Given the description of an element on the screen output the (x, y) to click on. 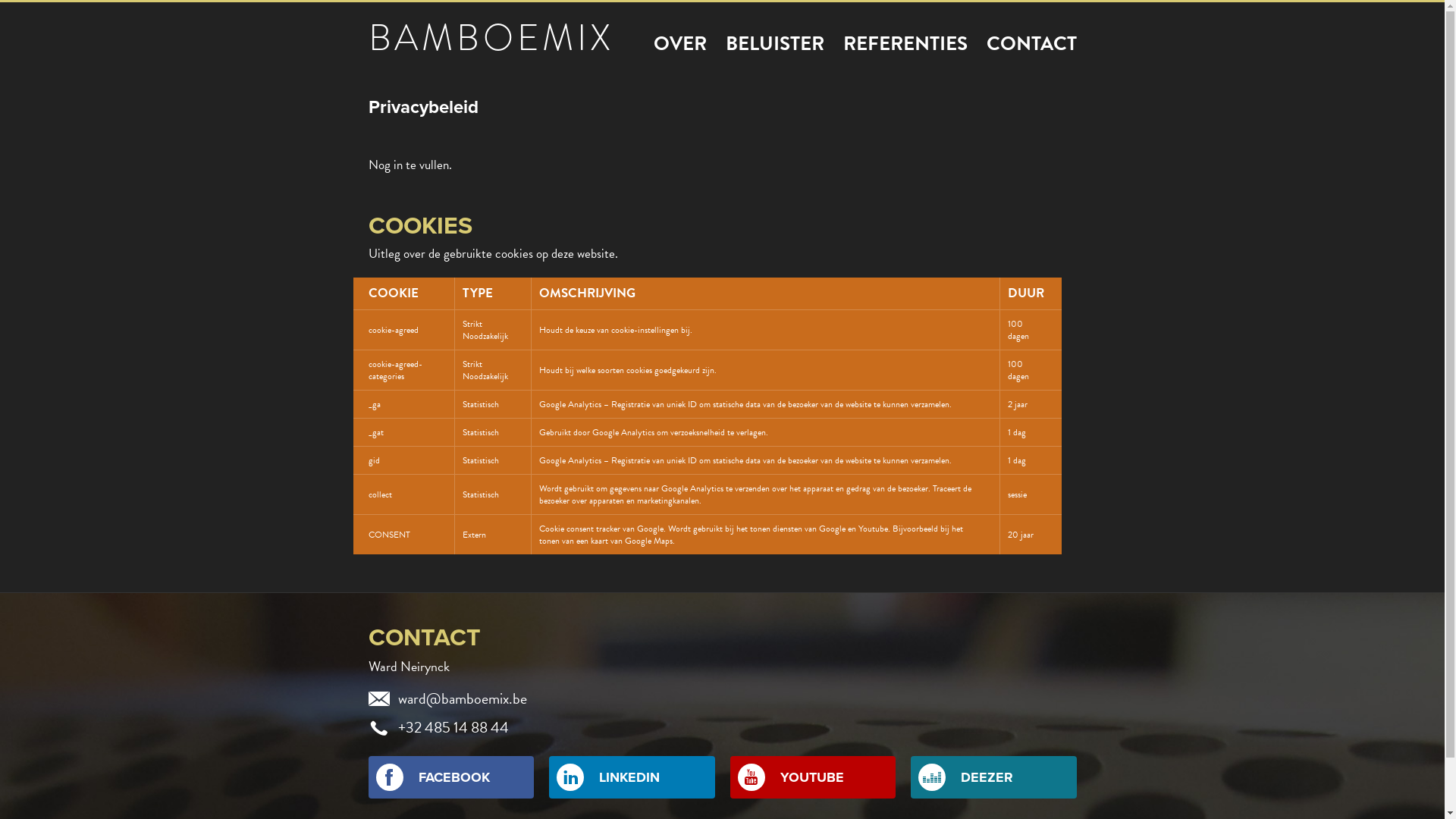
CONTACT Element type: text (1030, 43)
F
FACEBOOK Element type: text (451, 777)
@ ward@bamboemix.be Element type: text (722, 697)
D
DEEZER Element type: text (993, 777)
BELUISTER Element type: text (773, 43)
REFERENTIES Element type: text (905, 43)
p +32 485 14 88 44 Element type: text (722, 726)
L
LINKEDIN Element type: text (632, 777)
OVER Element type: text (679, 43)
Y
YOUTUBE Element type: text (812, 777)
BAMBOEMIX Element type: text (491, 37)
